Given the description of an element on the screen output the (x, y) to click on. 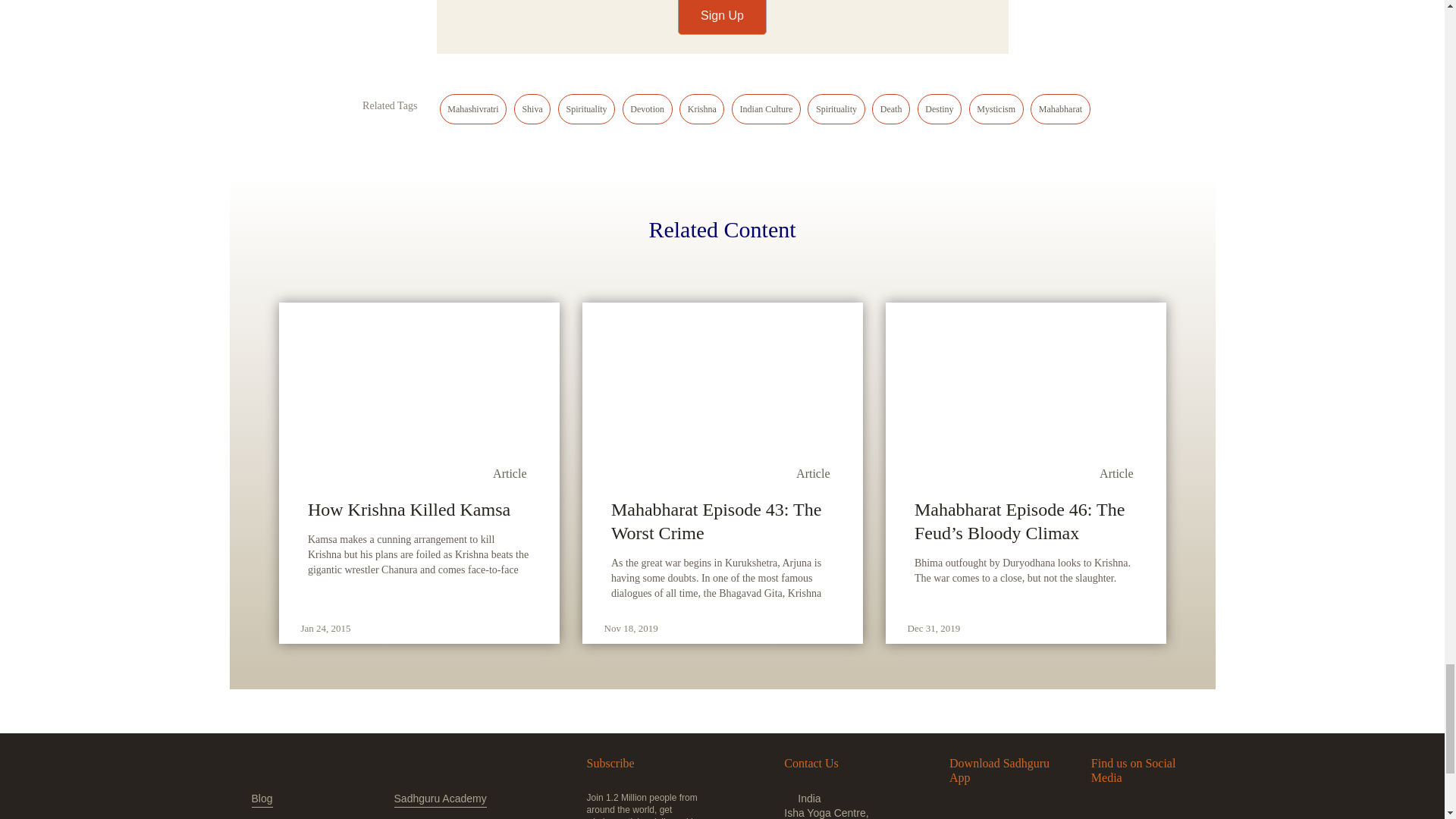
How Krishna Killed Kamsa (418, 509)
Mahabharat Episode 43: The Worst Crime (721, 521)
